Given the description of an element on the screen output the (x, y) to click on. 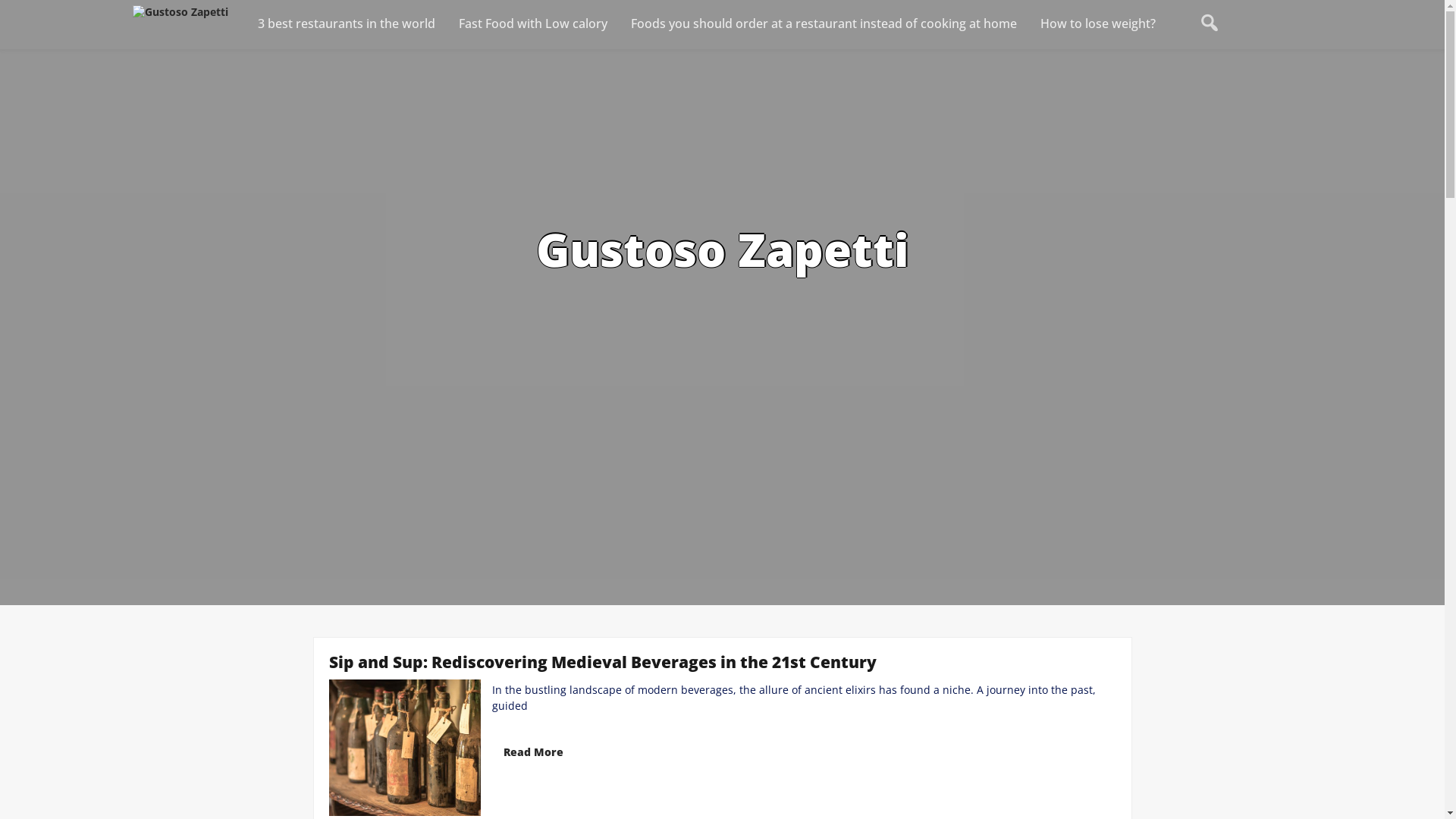
Fast Food with Low calory Element type: text (533, 24)
3 best restaurants in the world Element type: text (346, 24)
How to lose weight? Element type: text (1098, 24)
Gustoso Zapetti Element type: text (721, 249)
Read More Element type: text (532, 751)
